Given the description of an element on the screen output the (x, y) to click on. 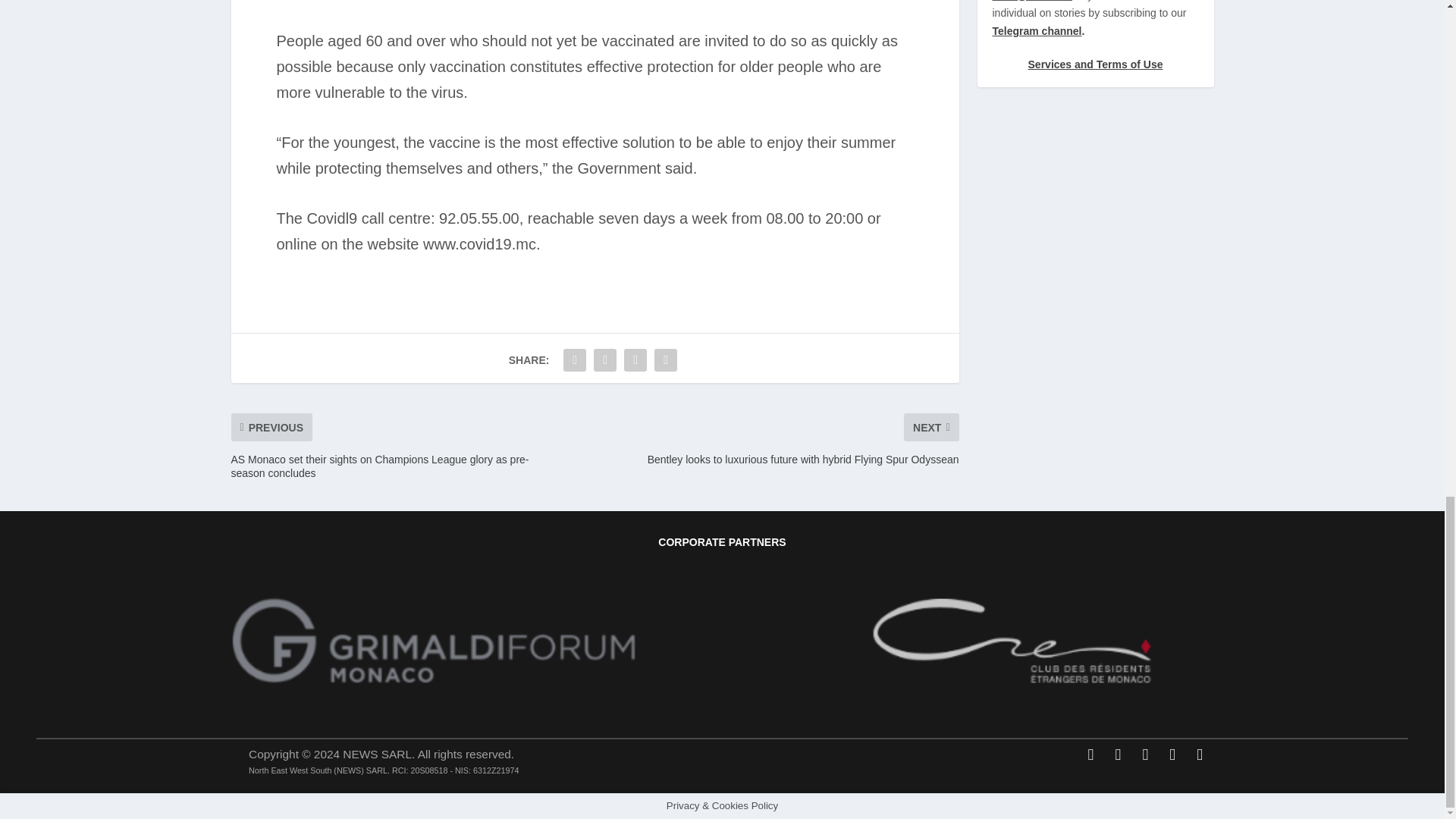
Share "Monaco extends vaccination for employees" via Twitter (604, 359)
Share "Monaco extends vaccination for employees" via Print (665, 359)
Share "Monaco extends vaccination for employees" via Email (635, 359)
